Given the description of an element on the screen output the (x, y) to click on. 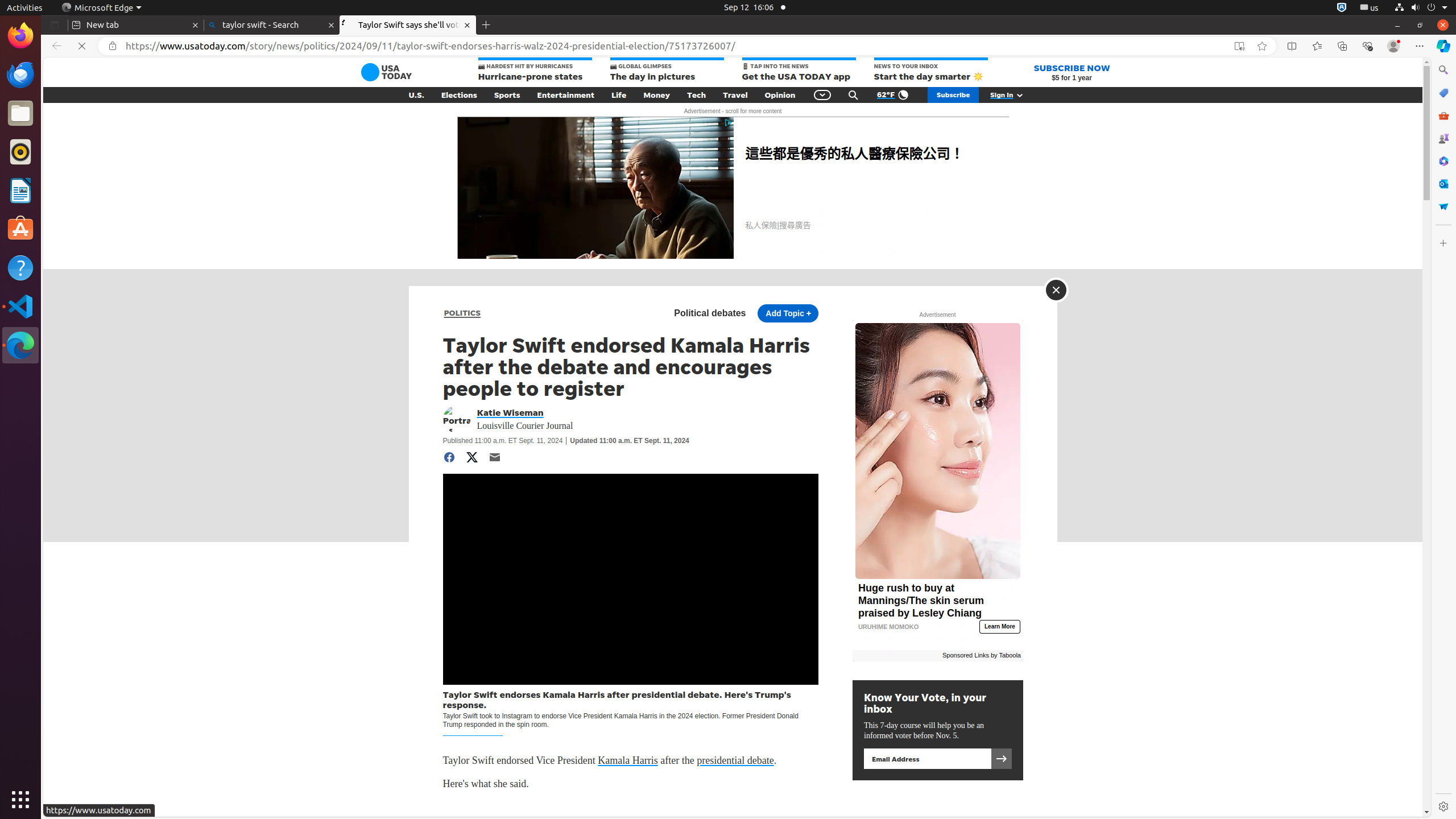
Search Element type: push-button (1443, 69)
Microsoft Edge Element type: push-button (20, 344)
New Tab Element type: push-button (486, 25)
Settings and more (Alt+F) Element type: push-button (1419, 45)
Refresh Element type: push-button (81, 45)
